Given the description of an element on the screen output the (x, y) to click on. 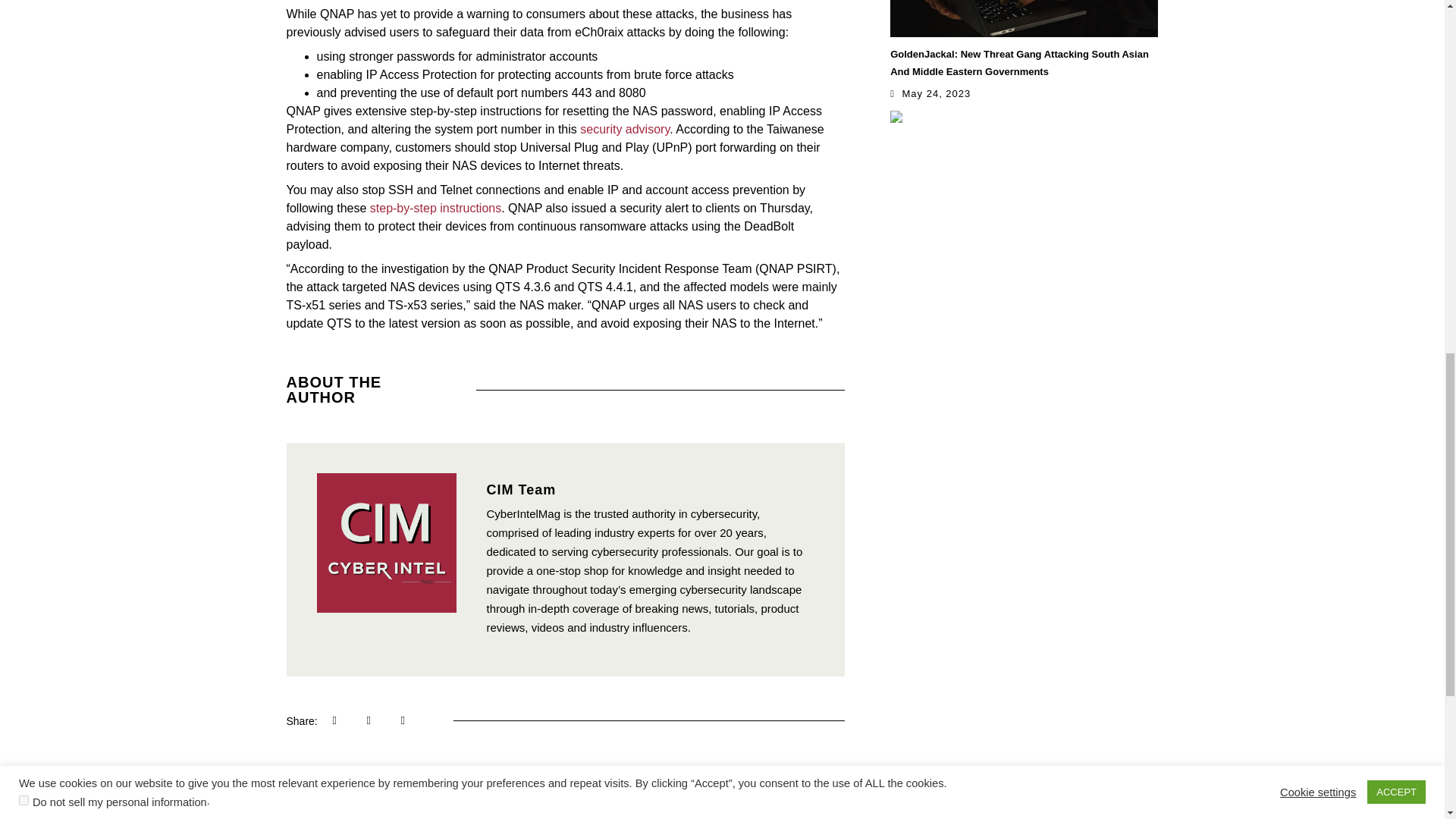
step-by-step instructions (434, 207)
security advisory (624, 128)
